Given the description of an element on the screen output the (x, y) to click on. 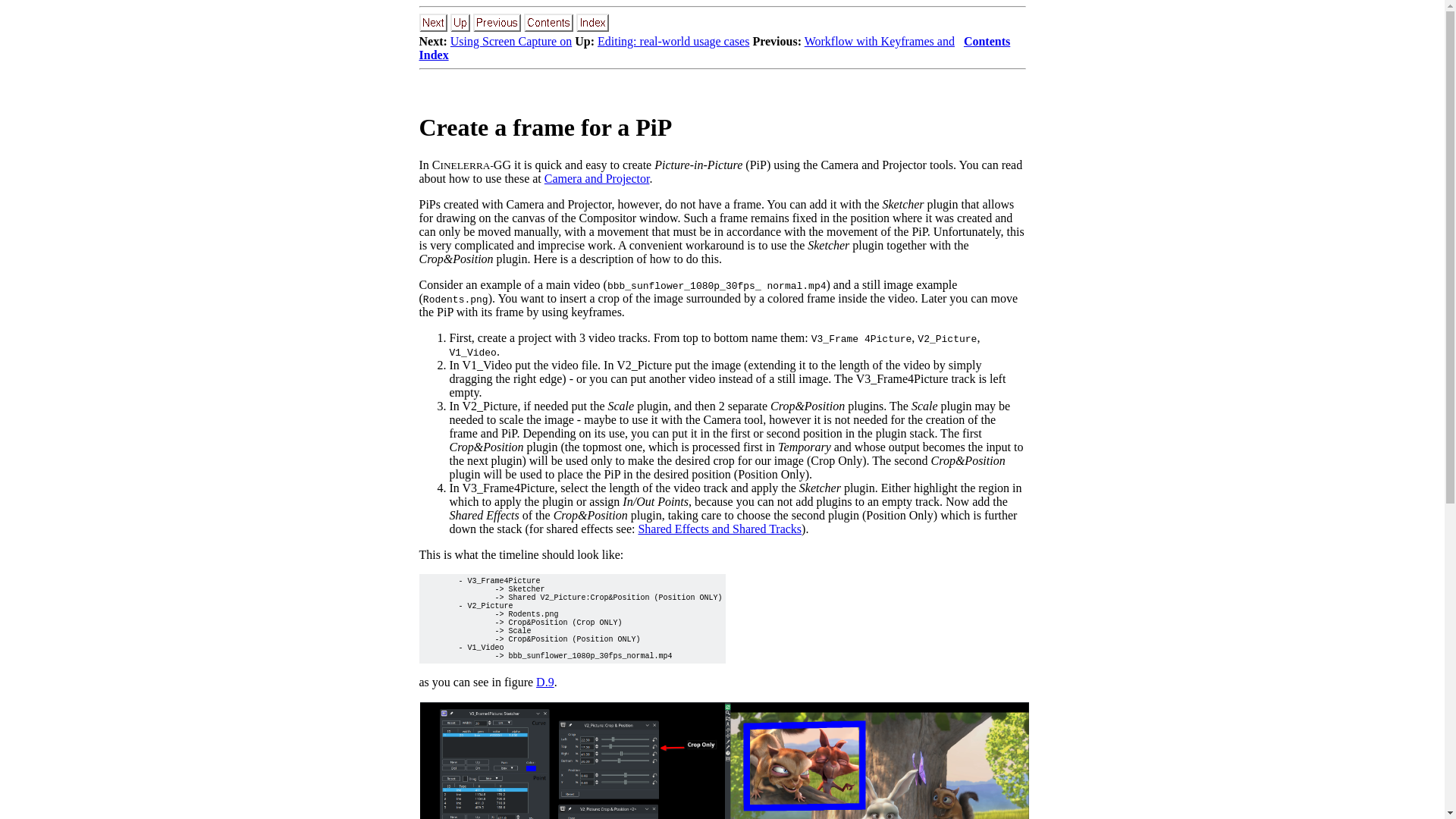
Contents (986, 41)
Editing: real-world usage cases (672, 41)
Workflow with Keyframes and (880, 41)
Index (433, 54)
D.9 (544, 681)
Camera and Projector (596, 178)
Using Screen Capture on (510, 41)
Shared Effects and Shared Tracks (719, 528)
